Given the description of an element on the screen output the (x, y) to click on. 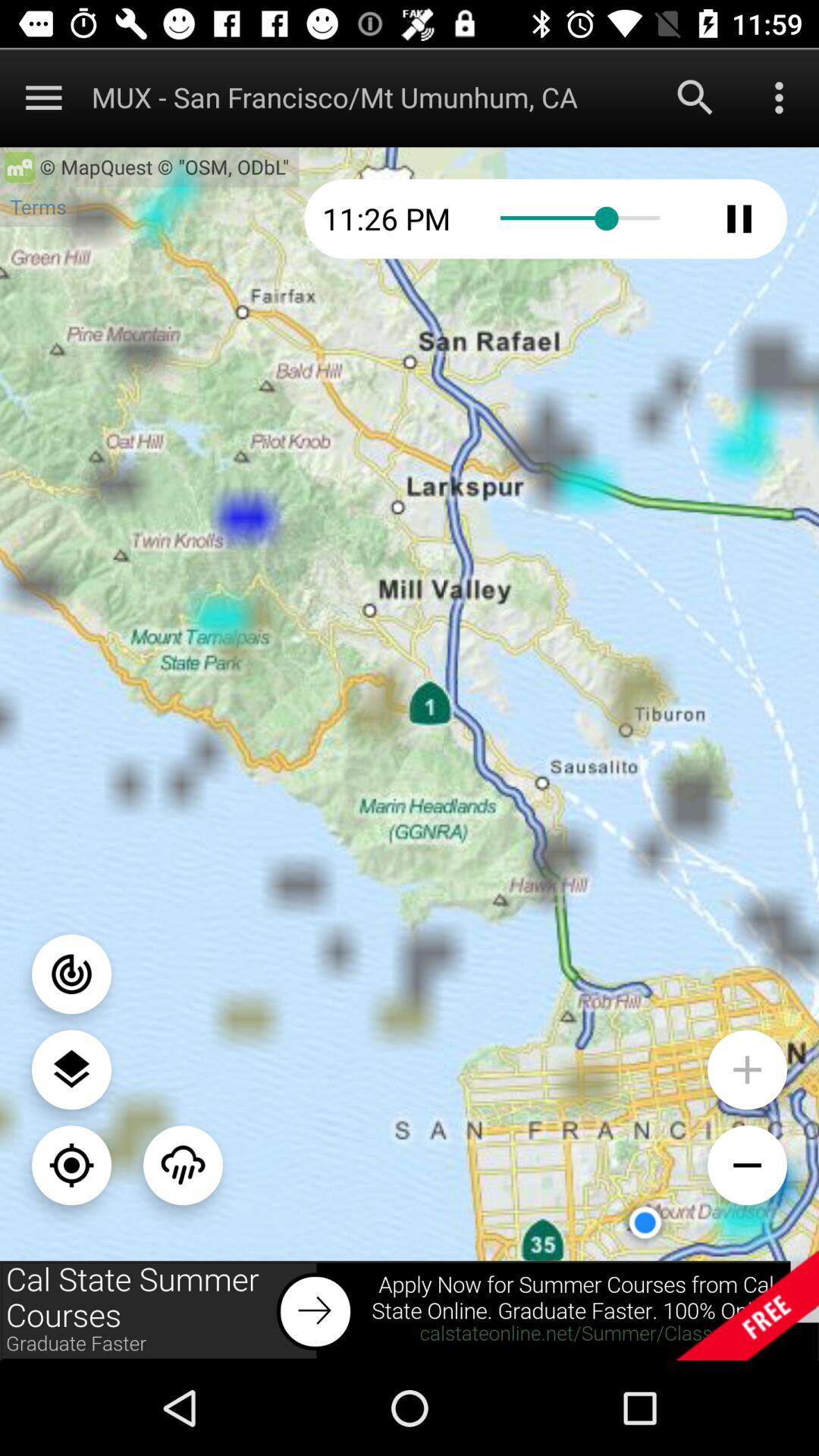
go to add option (747, 1069)
